Given the description of an element on the screen output the (x, y) to click on. 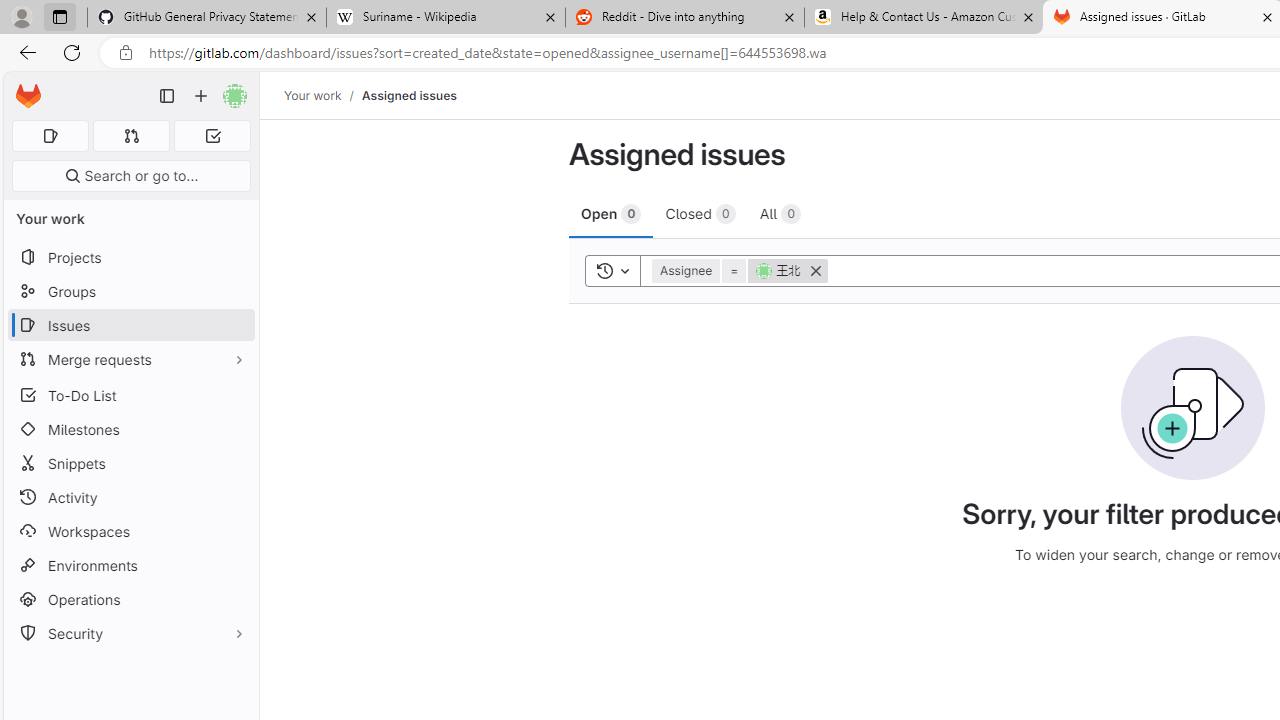
Security (130, 633)
All 0 (780, 213)
Projects (130, 257)
To-Do List (130, 394)
Operations (130, 599)
Projects (130, 257)
Issues (130, 325)
